Given the description of an element on the screen output the (x, y) to click on. 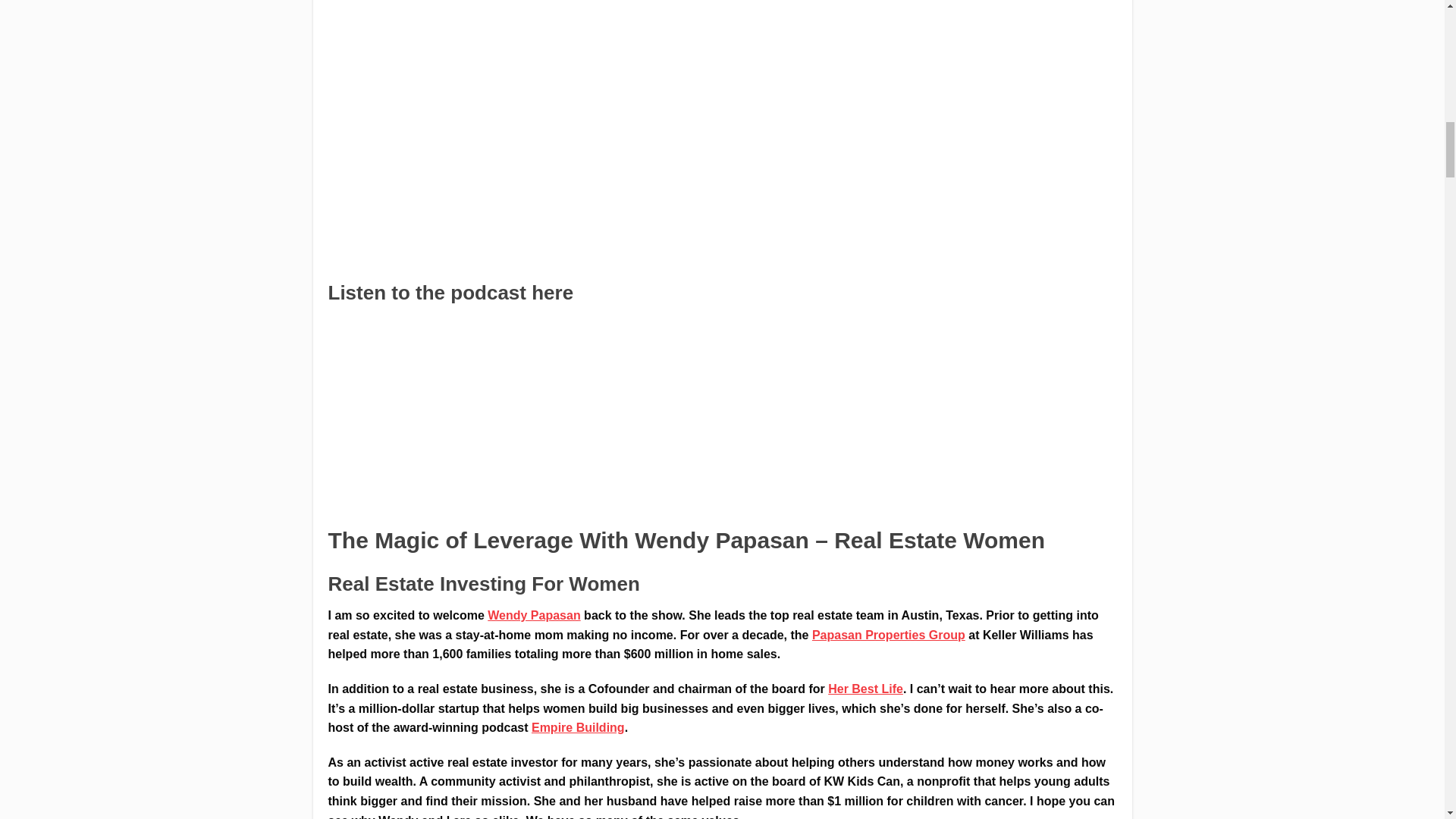
Empire Building (577, 727)
Her Best Life (865, 688)
Papasan Properties Group (888, 634)
Wendy Papasan (533, 615)
